Given the description of an element on the screen output the (x, y) to click on. 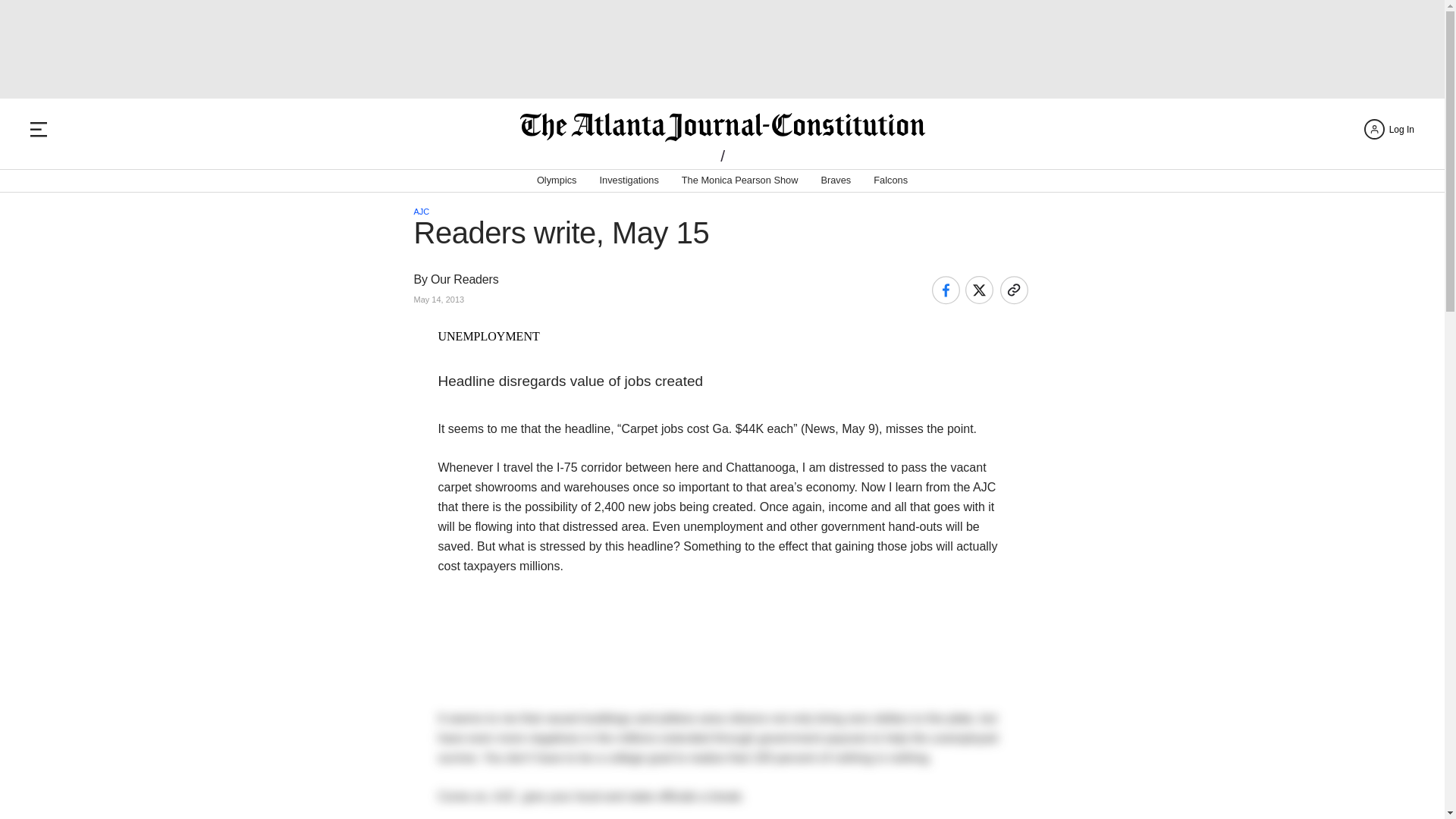
Falcons (890, 180)
Investigations (629, 180)
The Monica Pearson Show (739, 180)
Olympics (556, 180)
Braves (835, 180)
